Given the description of an element on the screen output the (x, y) to click on. 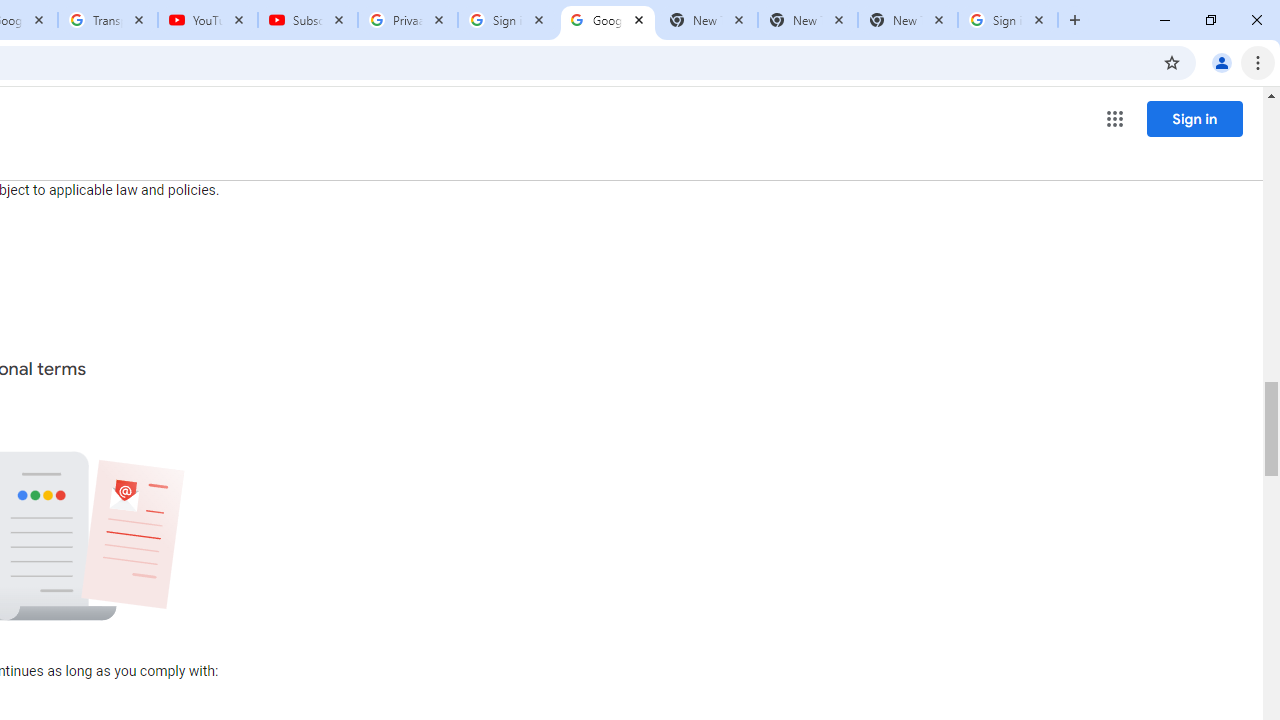
Sign in - Google Accounts (508, 20)
